Given the description of an element on the screen output the (x, y) to click on. 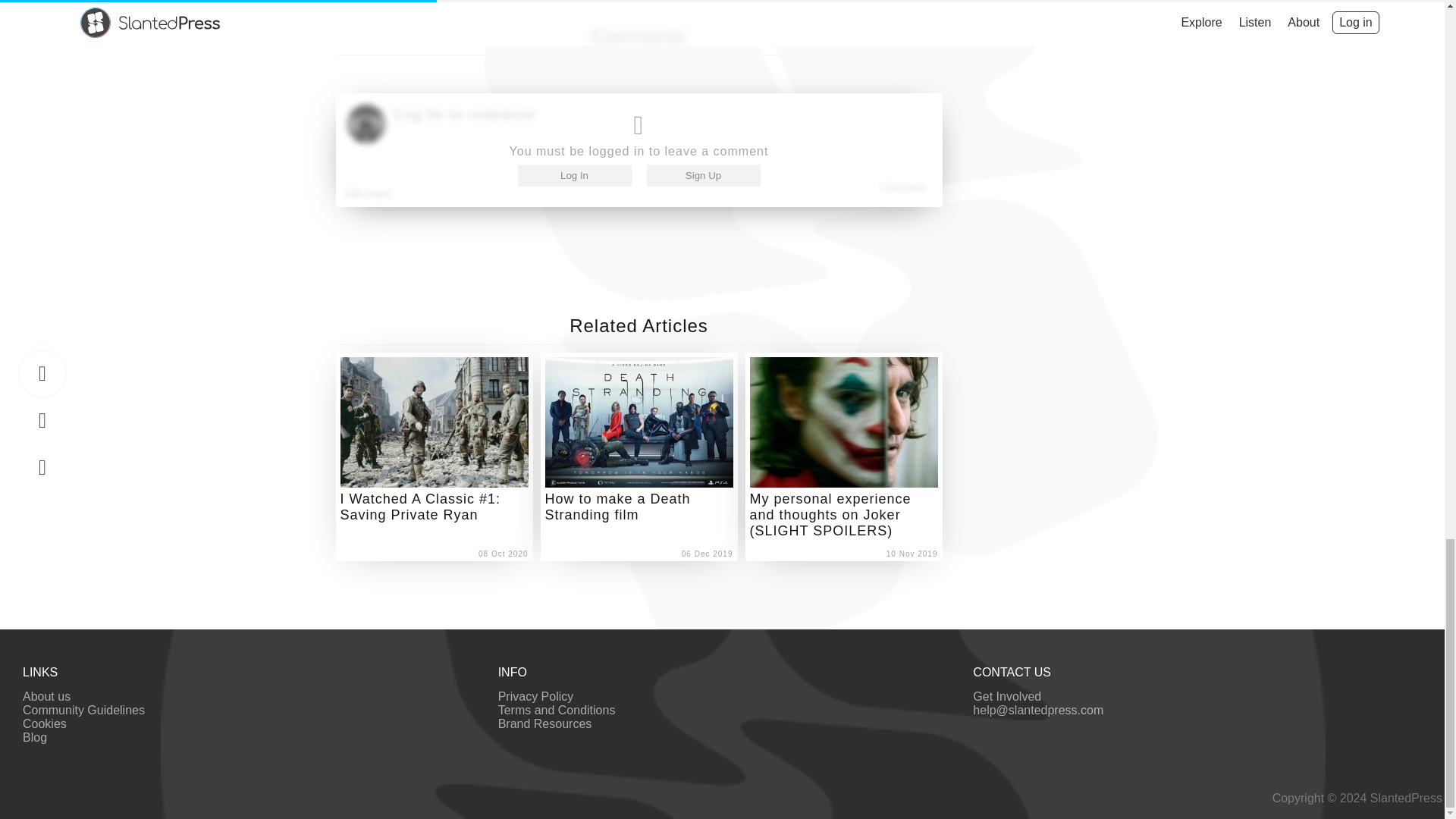
Blog (34, 737)
Get Involved (1006, 696)
Community Guidelines (83, 709)
Brand Resources (544, 723)
Cookies (44, 723)
Log In (573, 175)
Terms and Conditions (556, 709)
Sign Up (703, 175)
About us (46, 696)
Comment (903, 187)
